Given the description of an element on the screen output the (x, y) to click on. 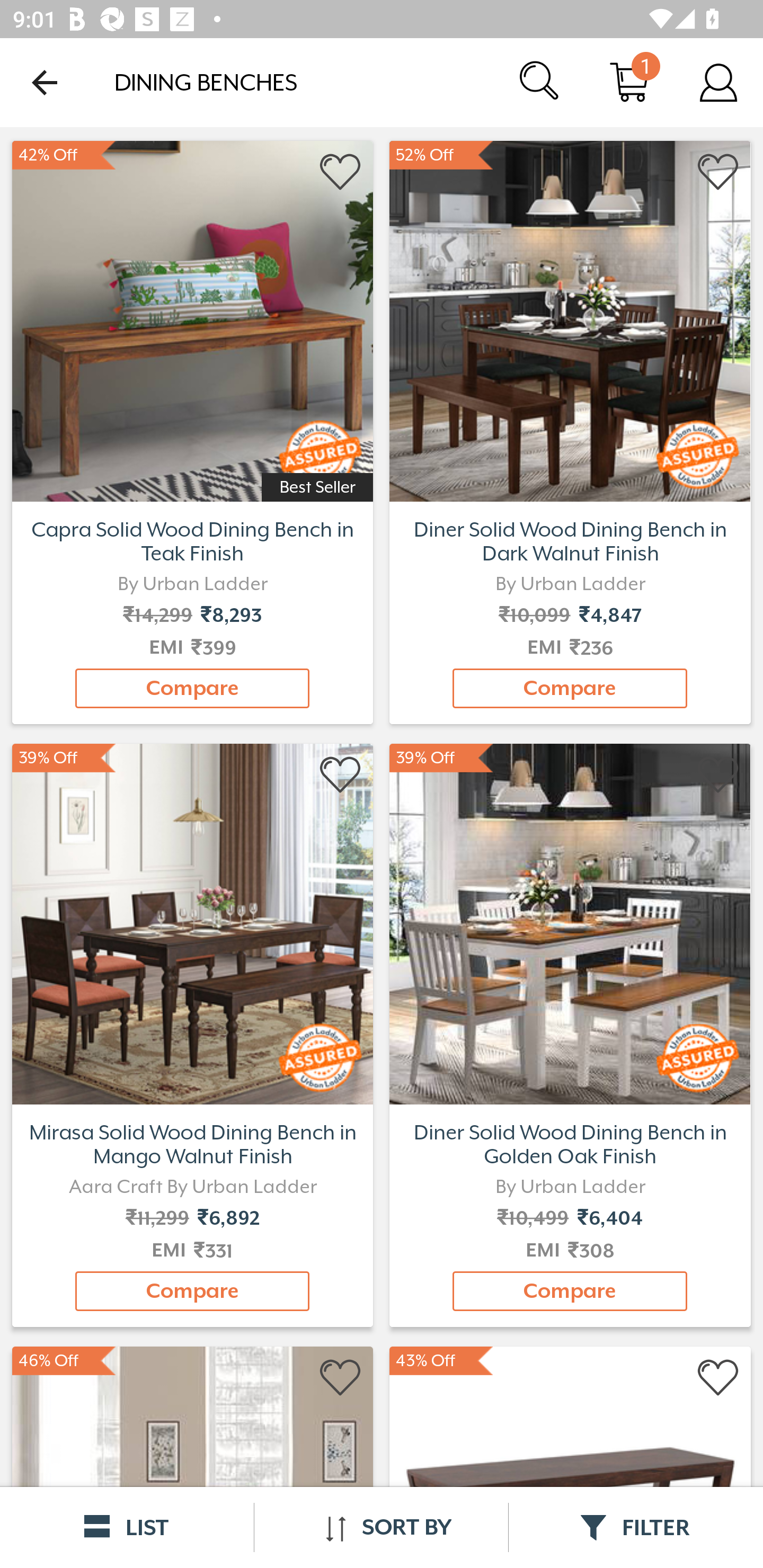
Navigate up (44, 82)
Search (540, 81)
Cart (629, 81)
Account Details (718, 81)
 (341, 172)
 (718, 172)
Compare (192, 687)
Compare (569, 687)
 (341, 775)
 (718, 775)
Compare (192, 1290)
Compare (569, 1290)
 (341, 1377)
 (718, 1377)
 LIST (127, 1527)
SORT BY (381, 1527)
 FILTER (635, 1527)
